Given the description of an element on the screen output the (x, y) to click on. 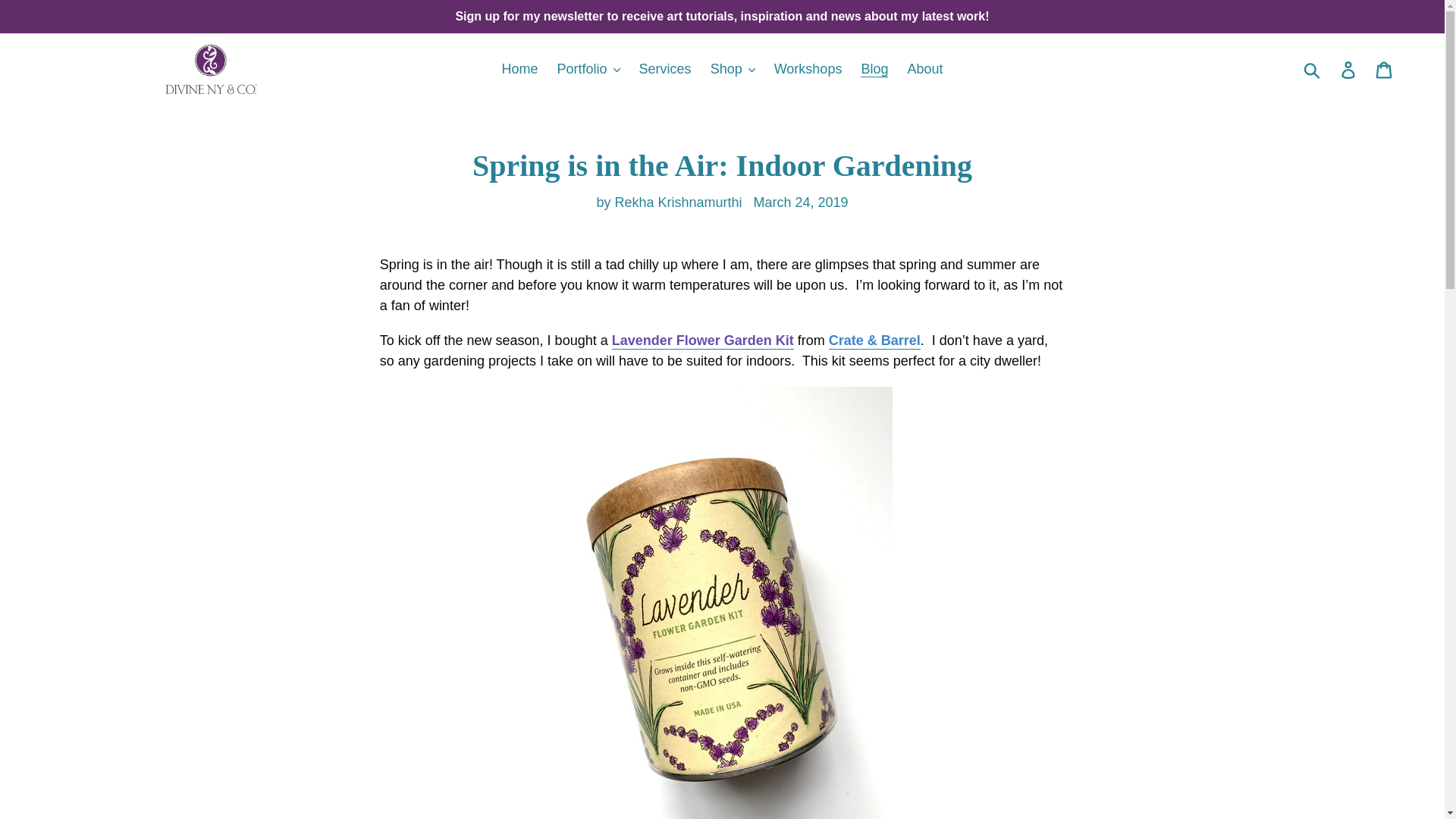
Home (518, 68)
Workshops (808, 68)
About (924, 68)
Log in (1349, 68)
Blog (874, 68)
Cart (1385, 68)
Submit (1313, 69)
Services (664, 68)
